Given the description of an element on the screen output the (x, y) to click on. 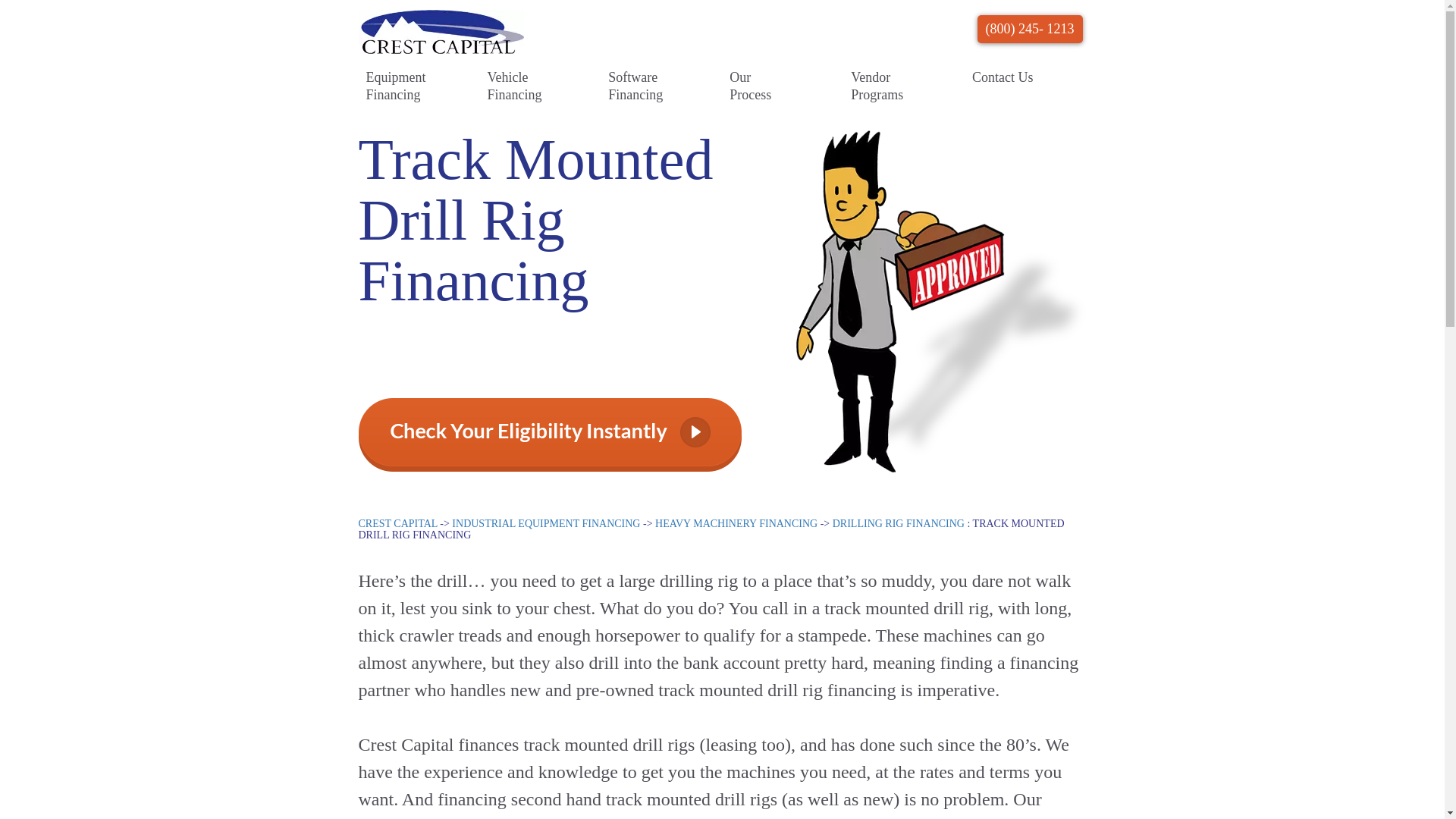
INDUSTRIAL EQUIPMENT FINANCING (545, 523)
Vehicle Financing (517, 86)
DRILLING RIG FINANCING (900, 523)
HEAVY MACHINERY FINANCING (735, 523)
CREST CAPITAL (397, 523)
Vendor Programs (881, 86)
Software Financing (638, 86)
Contact Us (1002, 77)
Equipment Financing (395, 86)
Our Process (759, 86)
